Given the description of an element on the screen output the (x, y) to click on. 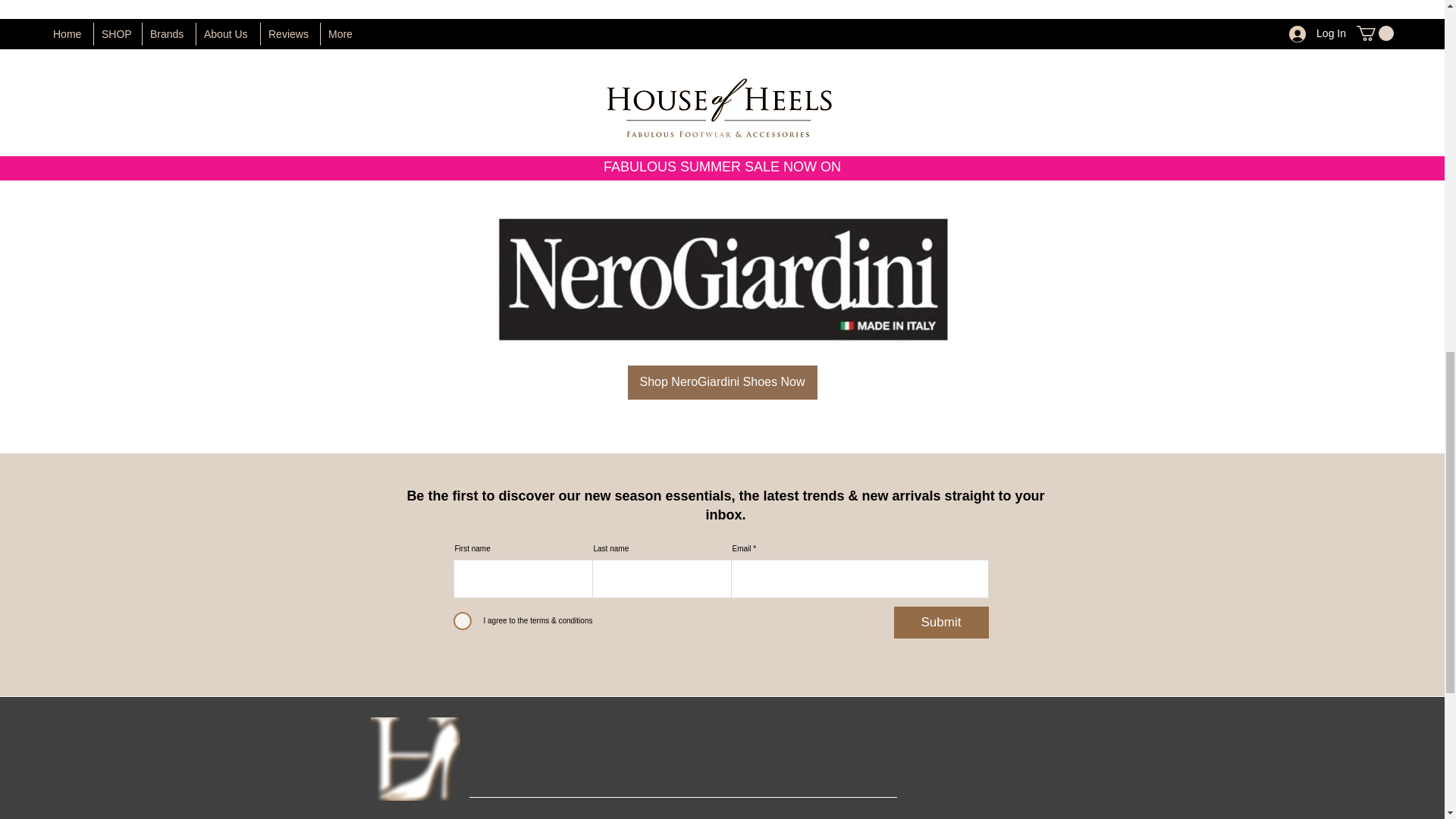
Submit (940, 622)
houseofheels.co.uk (782, 160)
Shop NeroGiardini Shoes Now (721, 382)
